Given the description of an element on the screen output the (x, y) to click on. 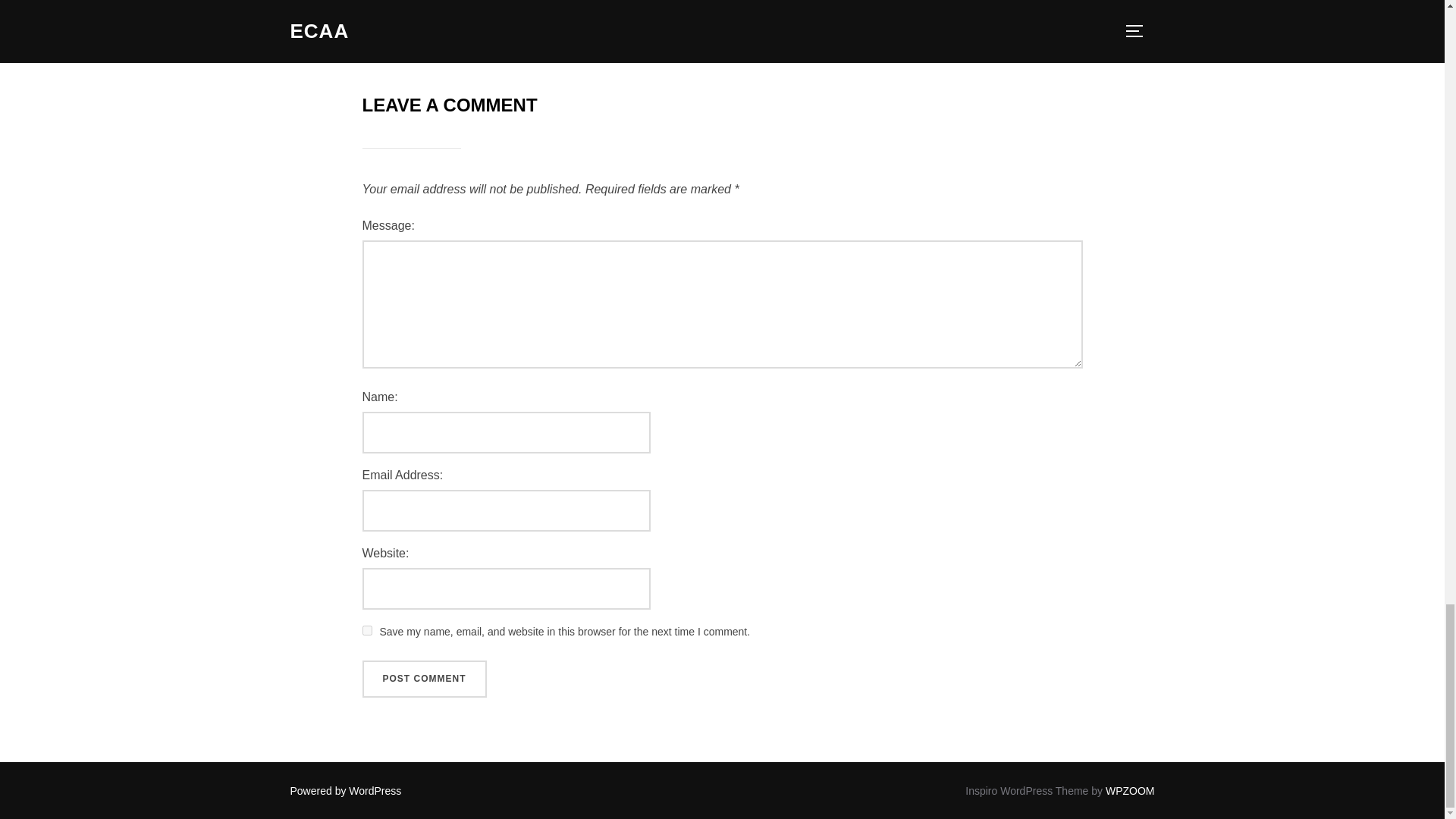
Post Comment (424, 679)
Powered by WordPress (345, 790)
yes (367, 630)
Post Comment (424, 679)
WPZOOM (1129, 790)
